Given the description of an element on the screen output the (x, y) to click on. 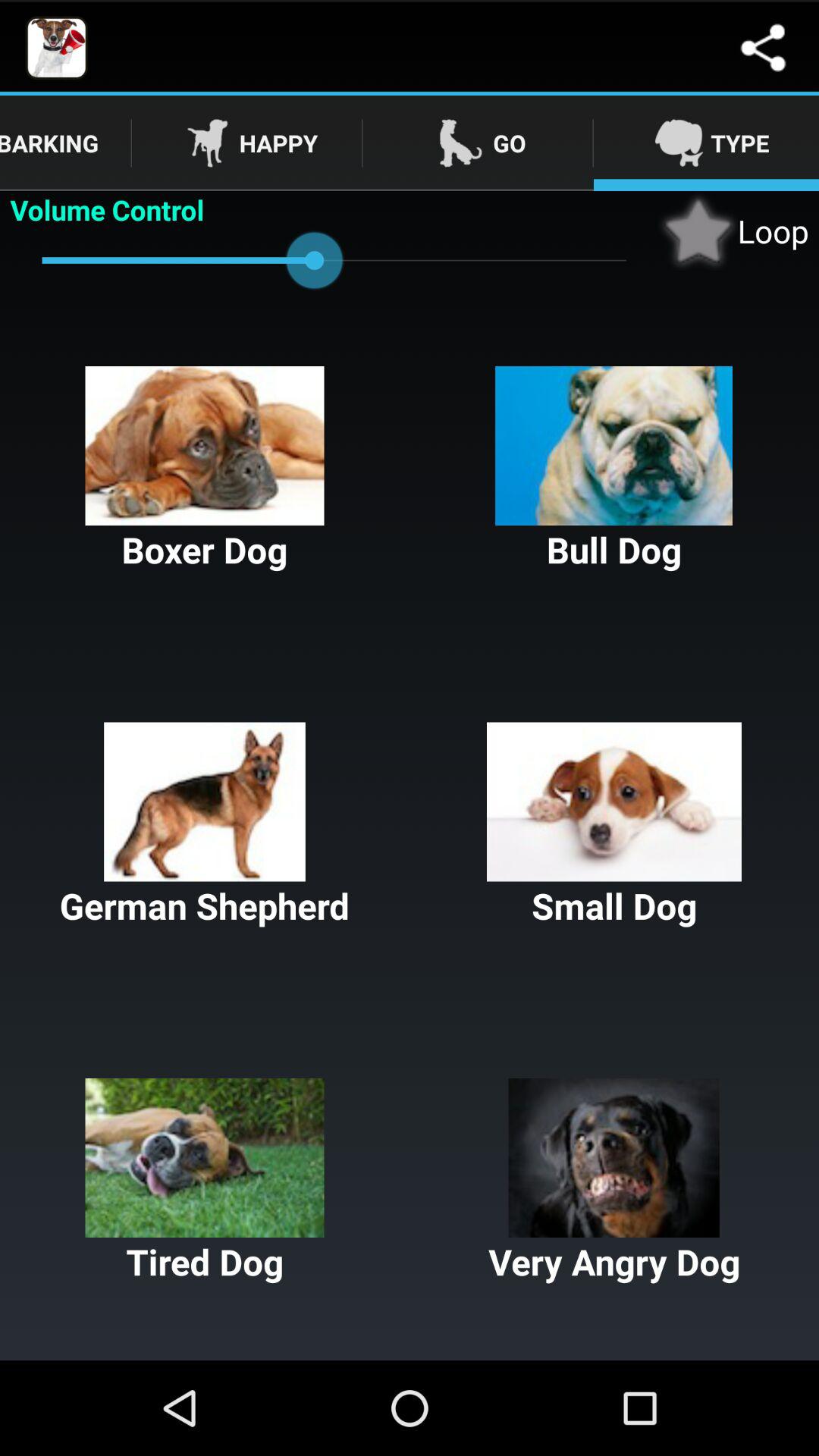
turn off small dog icon (614, 825)
